Given the description of an element on the screen output the (x, y) to click on. 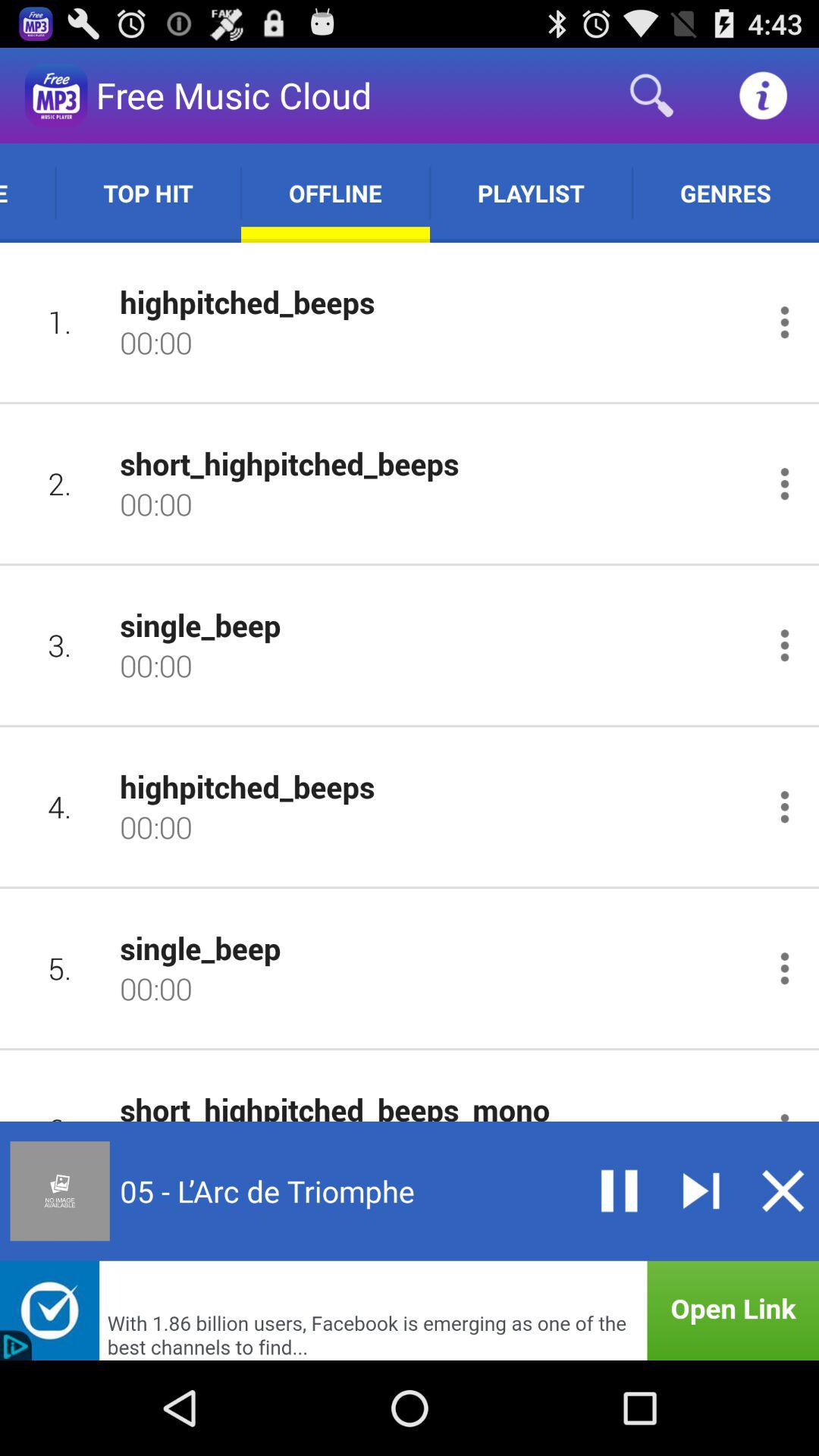
turn on the item next to playlist (335, 192)
